Given the description of an element on the screen output the (x, y) to click on. 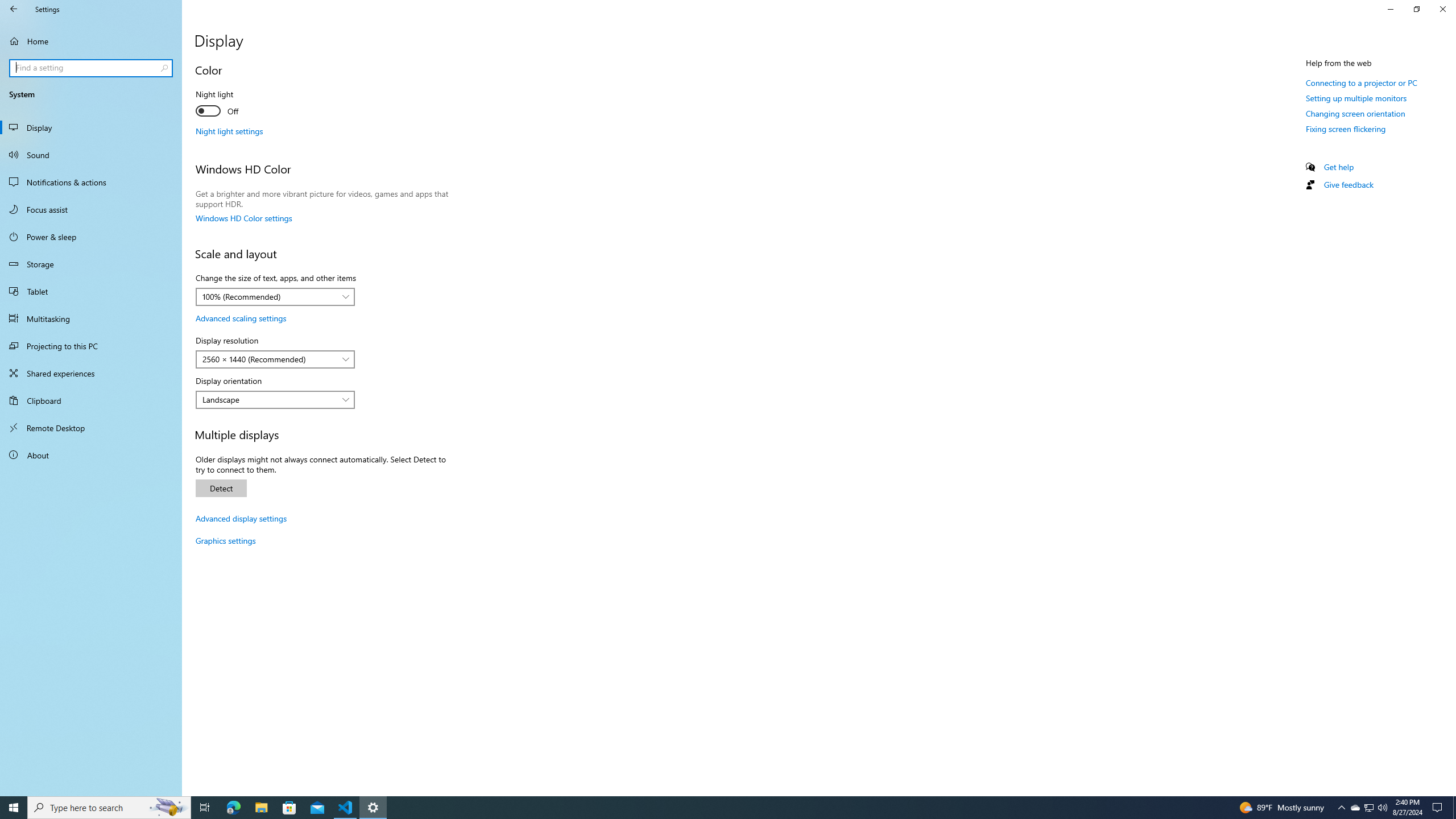
Search box, Find a setting (91, 67)
Changing screen orientation (1355, 113)
Give feedback (1348, 184)
Landscape (269, 398)
Notifications & actions (91, 181)
Tablet (91, 290)
Night light settings (229, 130)
Display orientation (275, 399)
Fixing screen flickering (1346, 128)
